Given the description of an element on the screen output the (x, y) to click on. 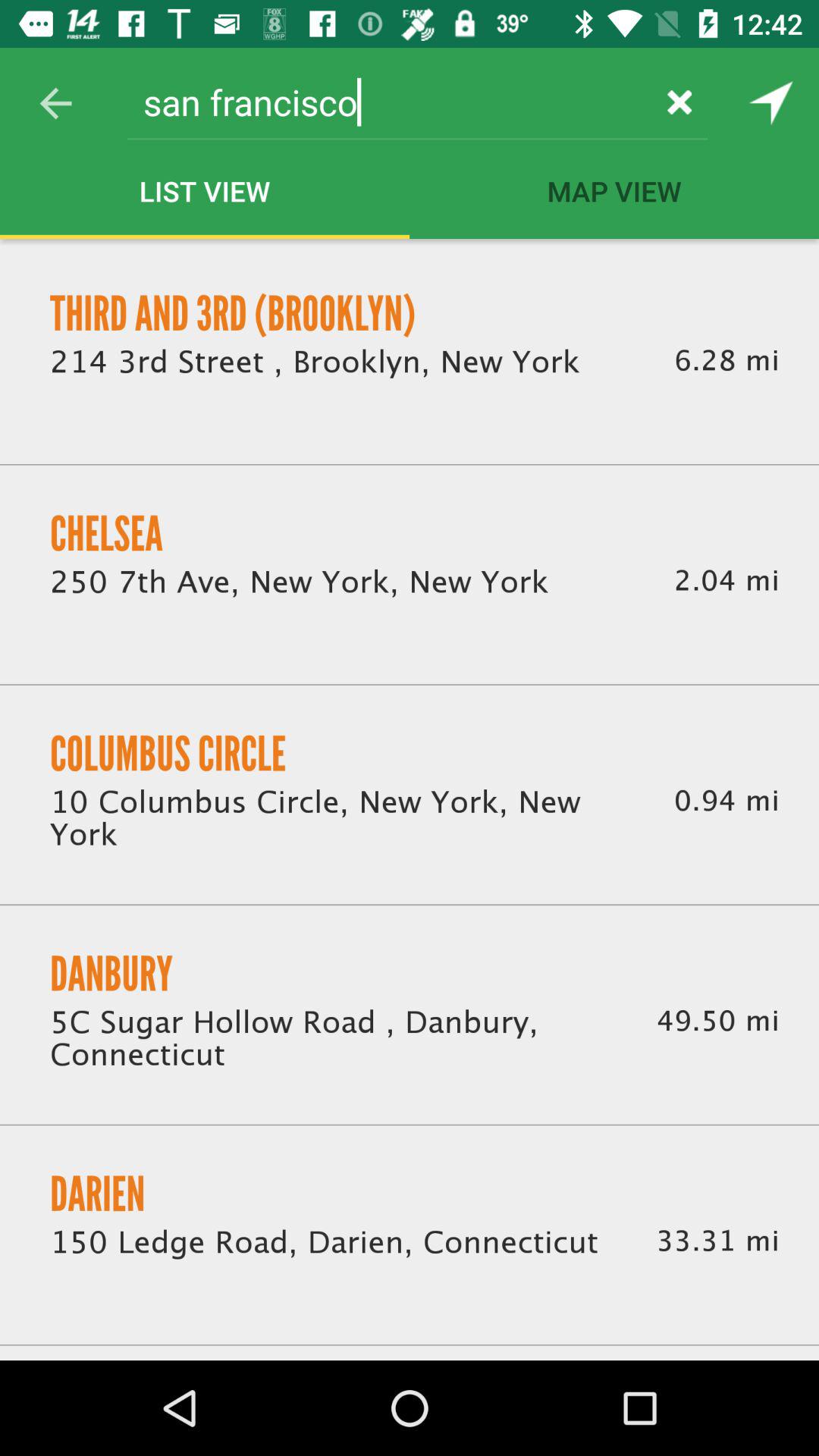
open icon to the right of the 10 columbus circle icon (726, 800)
